Given the description of an element on the screen output the (x, y) to click on. 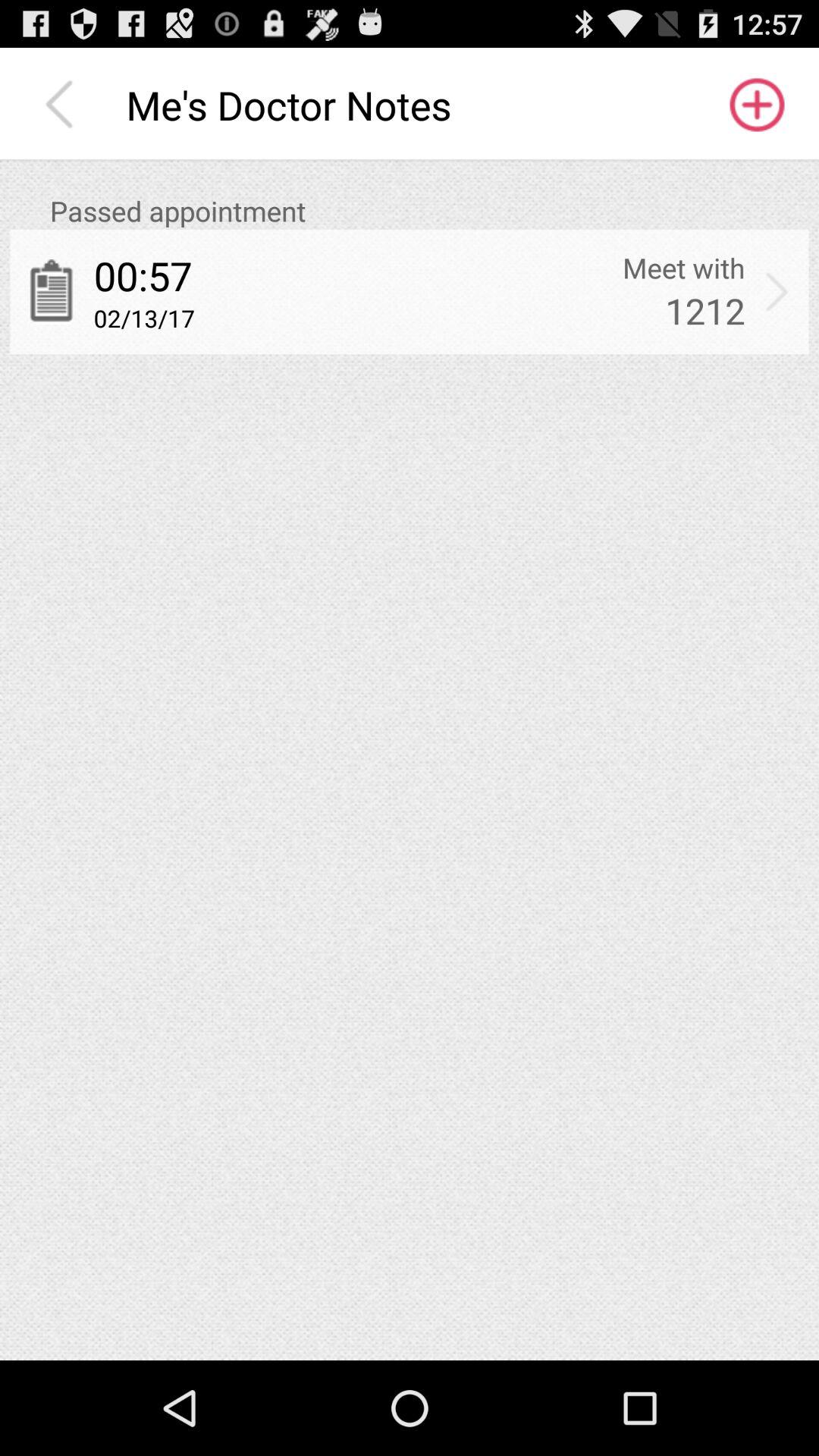
tap the app below passed appointment icon (776, 291)
